Given the description of an element on the screen output the (x, y) to click on. 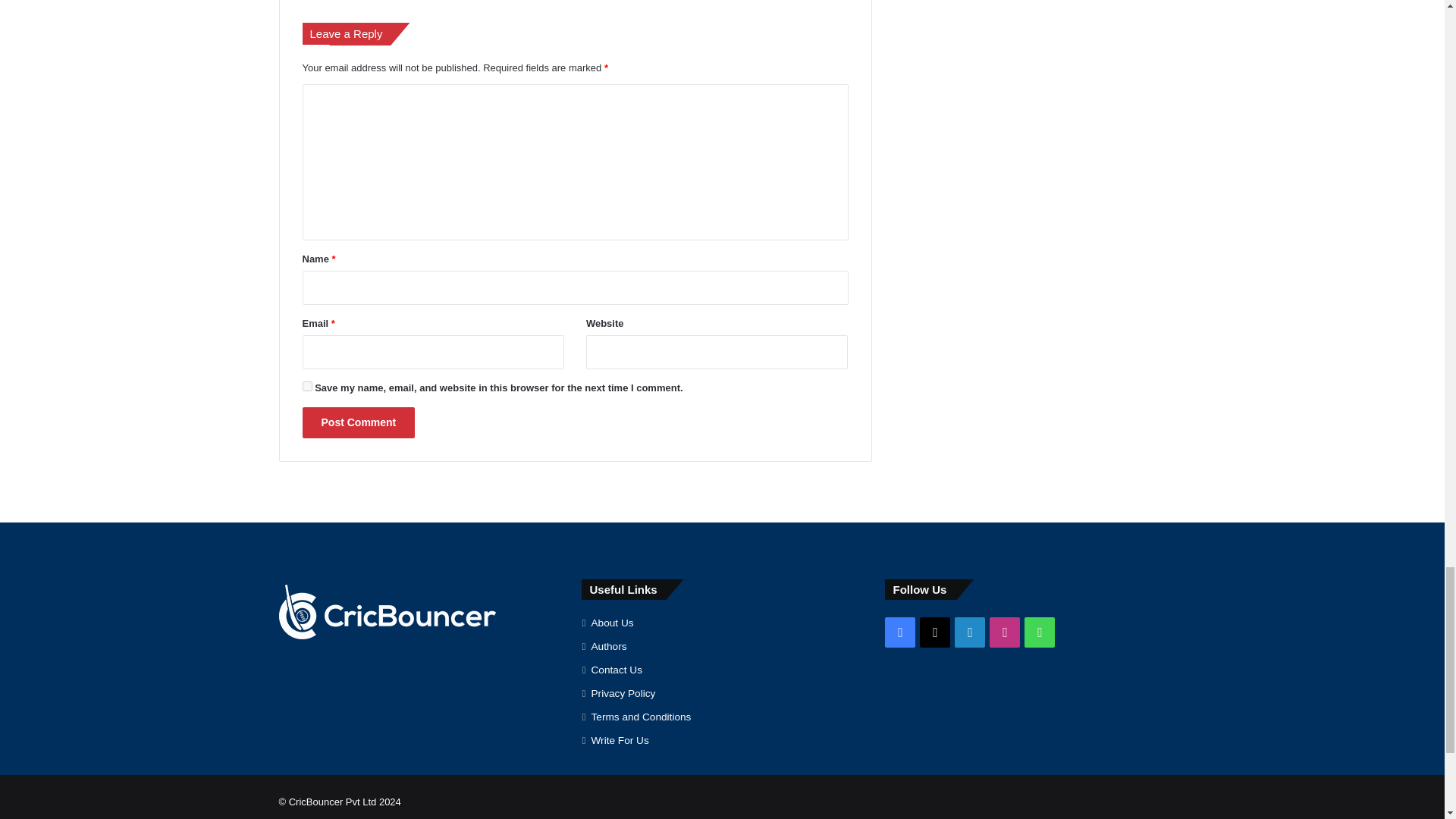
yes (306, 386)
Post Comment (357, 422)
Post Comment (357, 422)
